Given the description of an element on the screen output the (x, y) to click on. 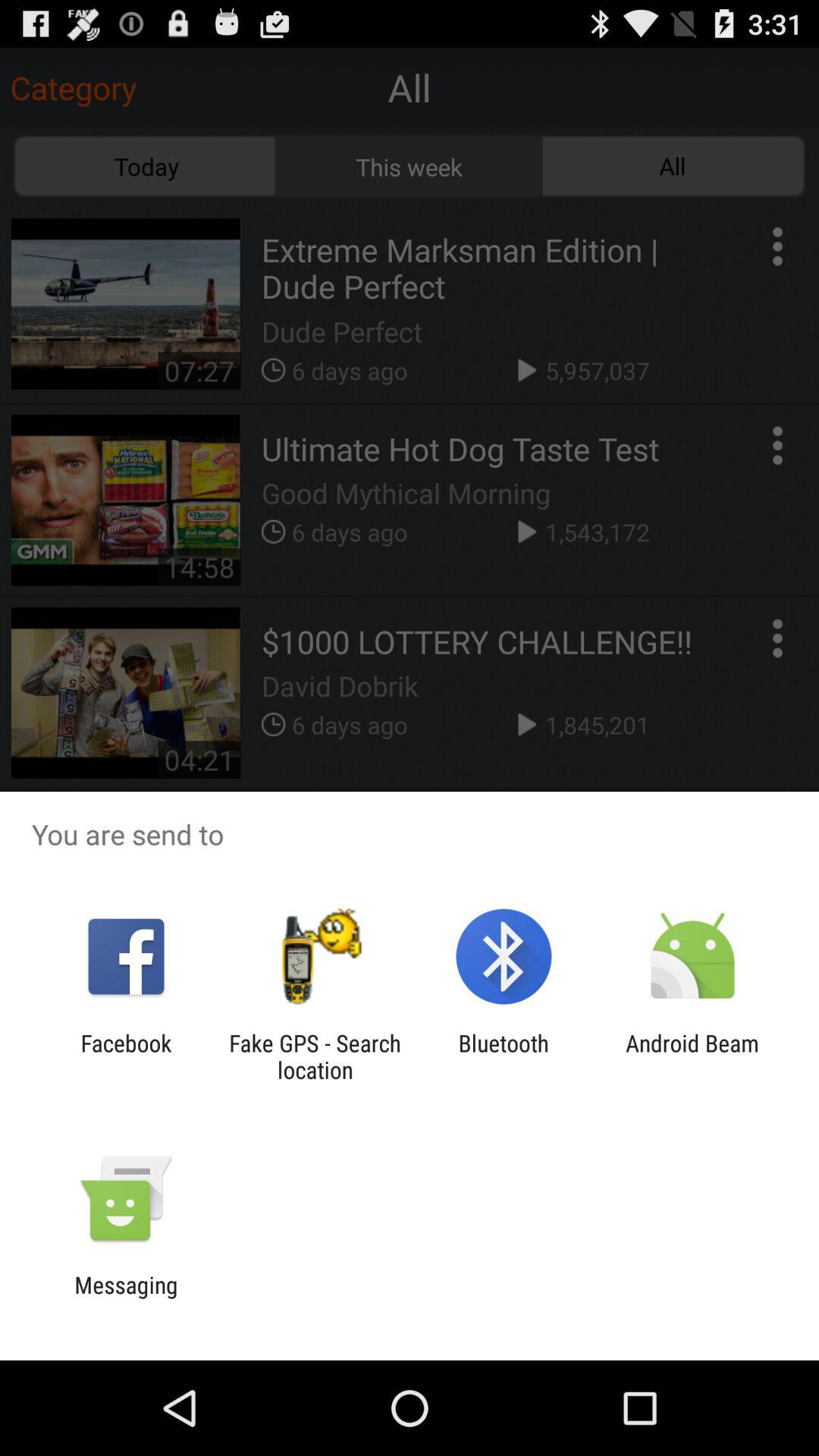
swipe until the facebook item (125, 1056)
